Given the description of an element on the screen output the (x, y) to click on. 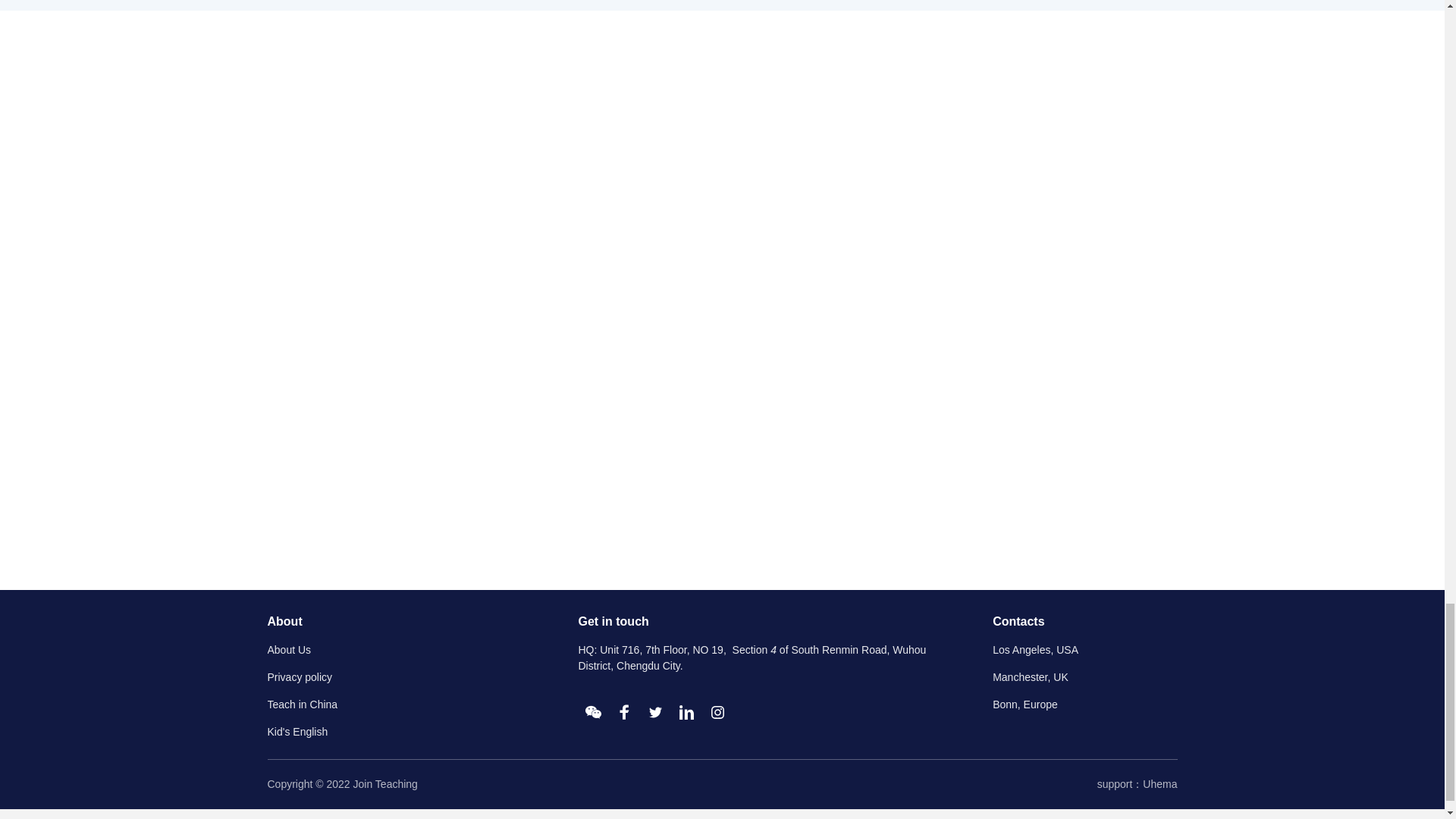
Linkedin (686, 712)
Wechat (593, 712)
Instagram (717, 712)
Facebook (624, 712)
Twitter (655, 712)
